Given the description of an element on the screen output the (x, y) to click on. 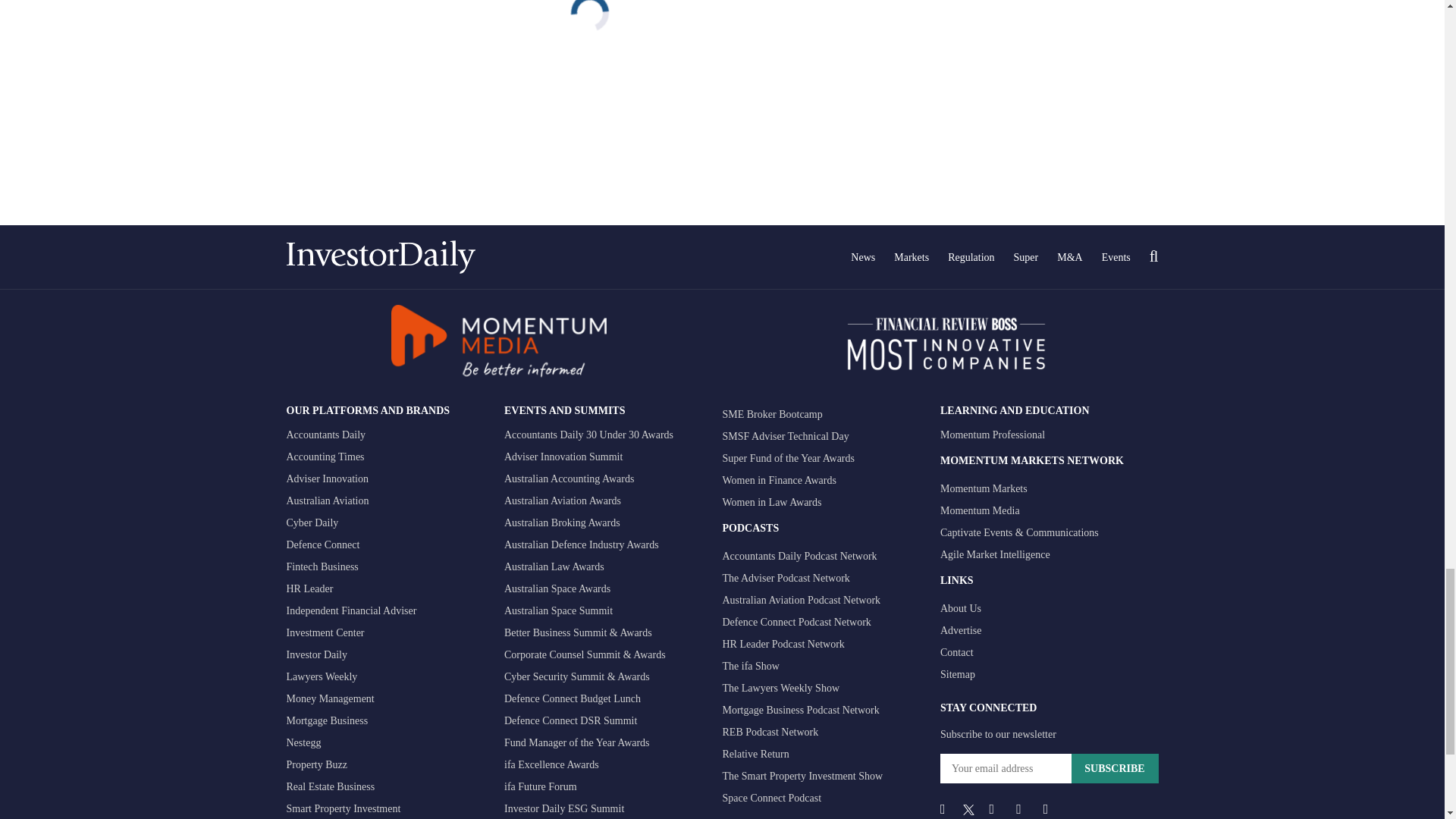
SUBSCRIBE (1113, 767)
